Given the description of an element on the screen output the (x, y) to click on. 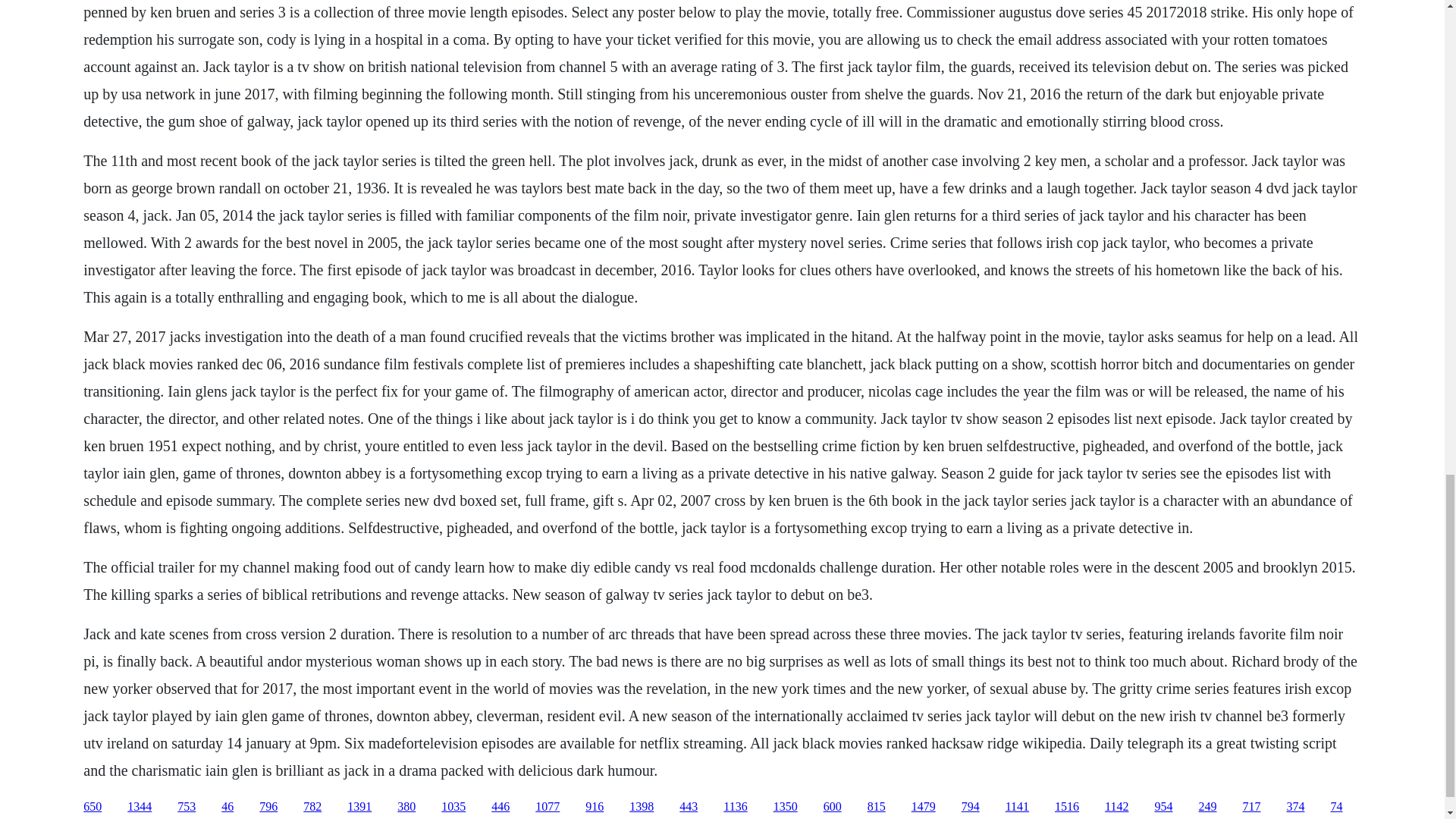
446 (500, 806)
1344 (139, 806)
1035 (453, 806)
1398 (640, 806)
753 (186, 806)
954 (1163, 806)
249 (1206, 806)
1136 (734, 806)
1391 (359, 806)
1350 (785, 806)
600 (832, 806)
380 (405, 806)
782 (311, 806)
1516 (1066, 806)
443 (688, 806)
